Given the description of an element on the screen output the (x, y) to click on. 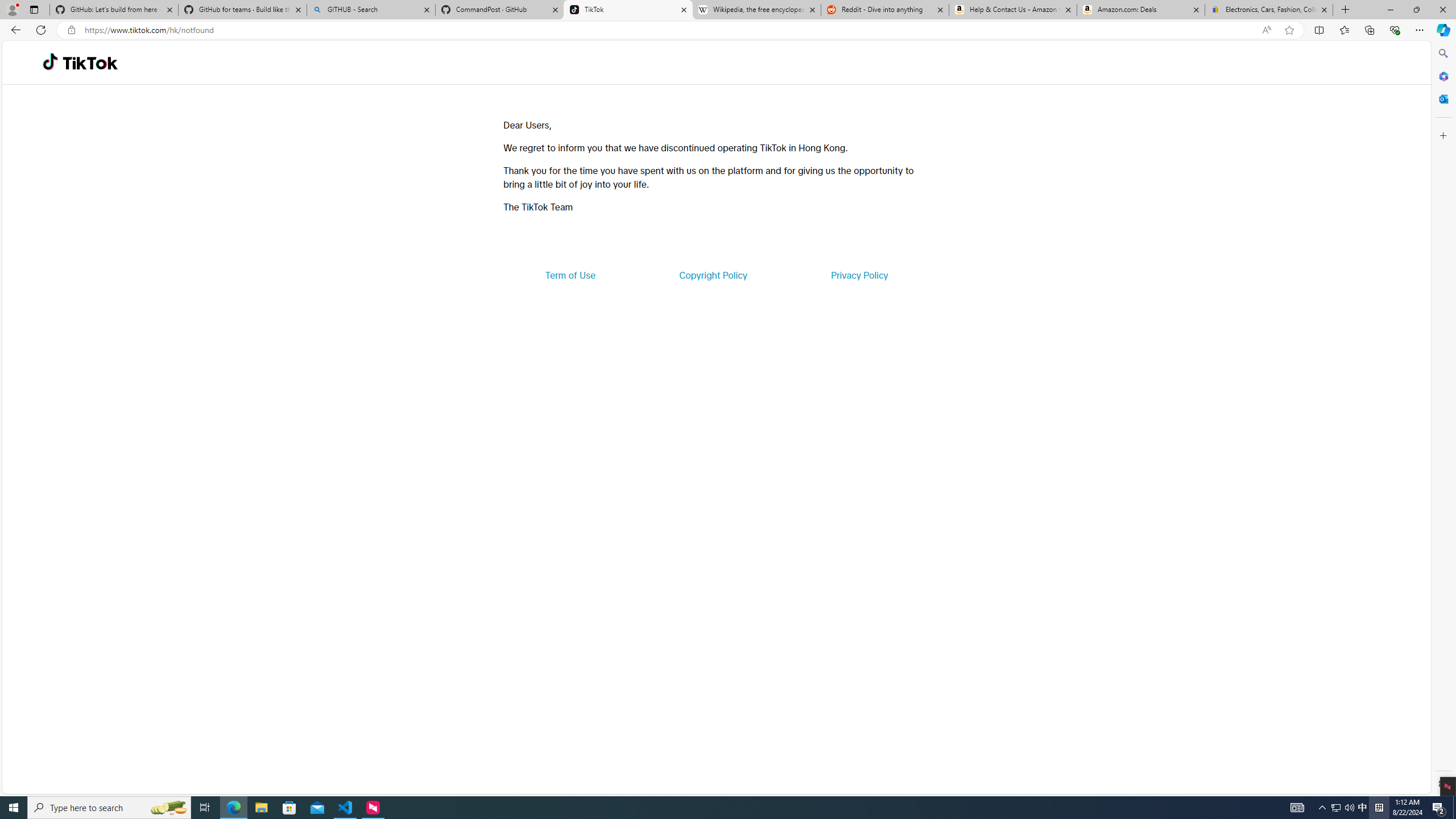
Privacy Policy (858, 274)
GITHUB - Search (370, 9)
Amazon.com: Deals (1140, 9)
